Given the description of an element on the screen output the (x, y) to click on. 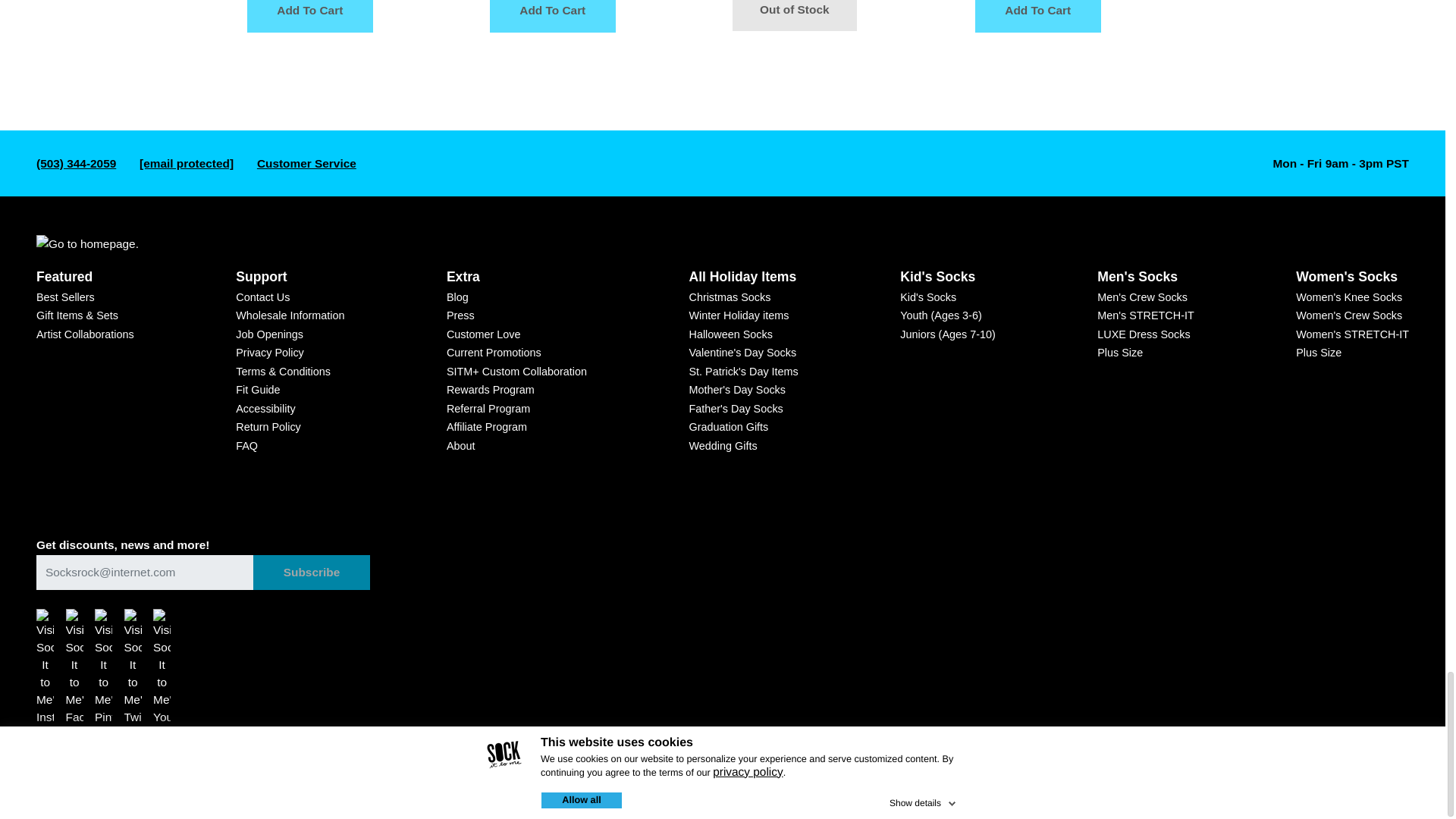
Subscribe (311, 572)
